Given the description of an element on the screen output the (x, y) to click on. 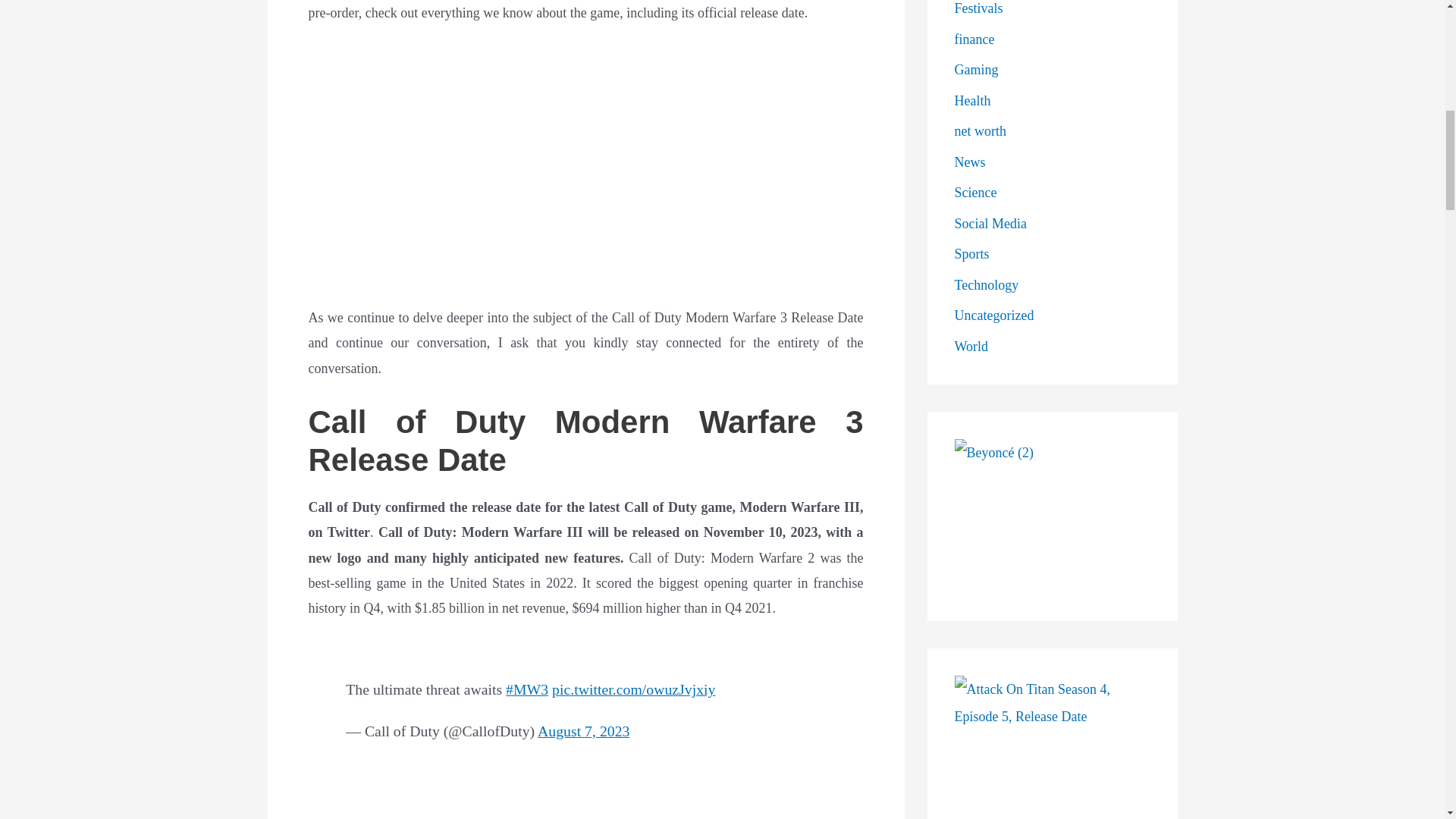
3rd party ad content (585, 809)
Twitter (585, 718)
